Given the description of an element on the screen output the (x, y) to click on. 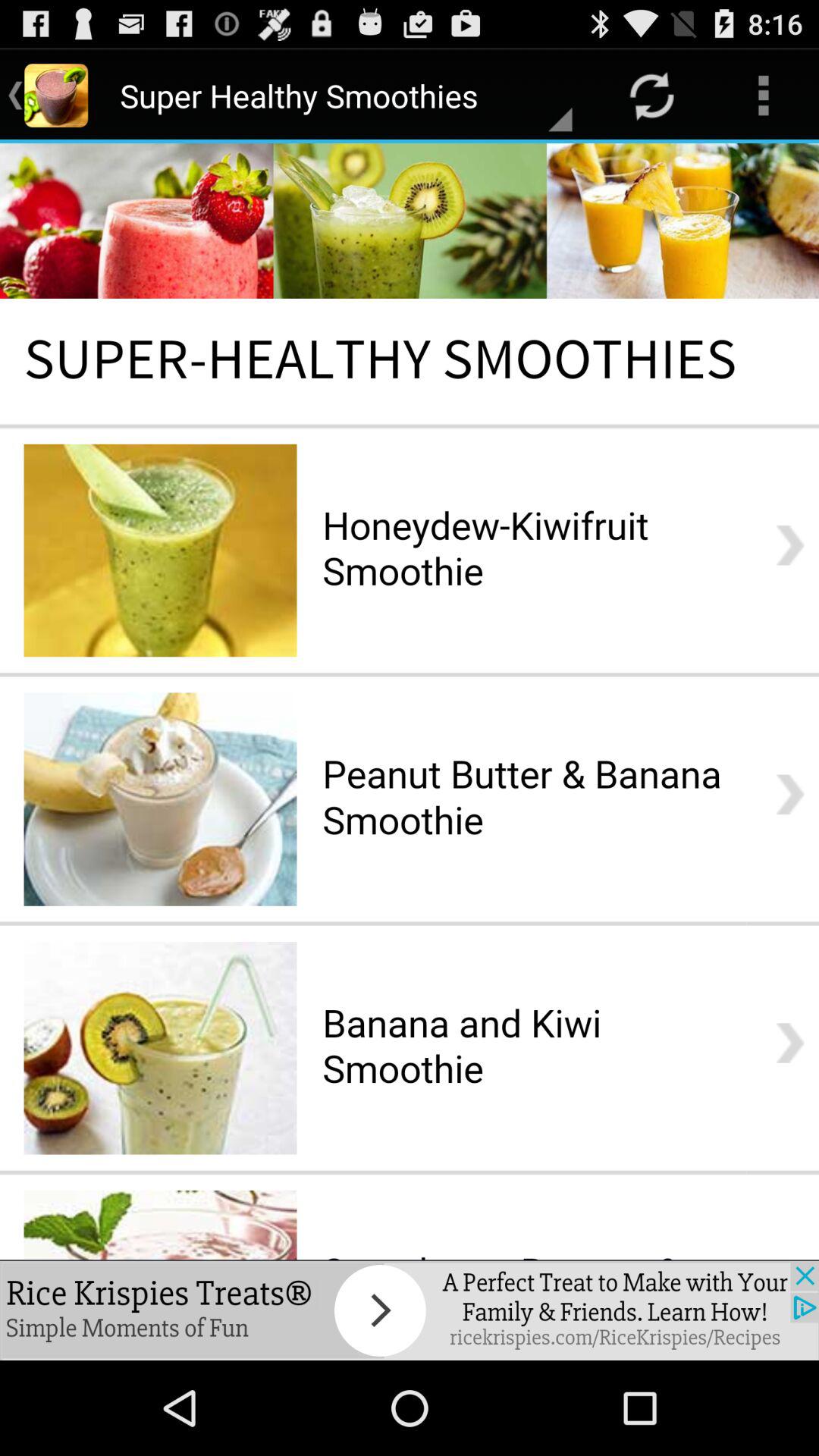
front end (409, 701)
